Given the description of an element on the screen output the (x, y) to click on. 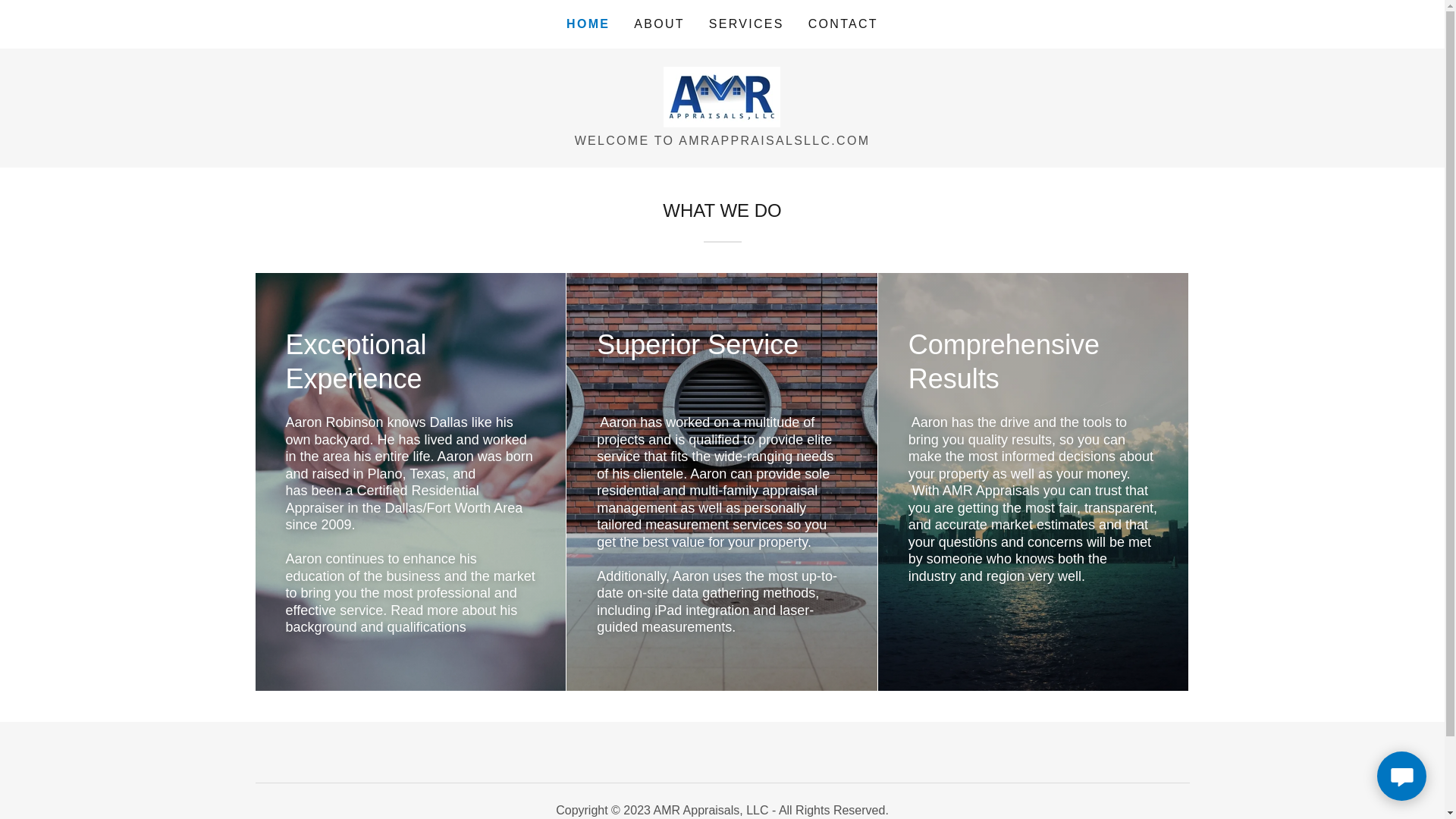
HOME (588, 24)
ABOUT (658, 23)
SERVICES (746, 23)
CONTACT (842, 23)
AMR Appraisals, LLC (721, 96)
